Given the description of an element on the screen output the (x, y) to click on. 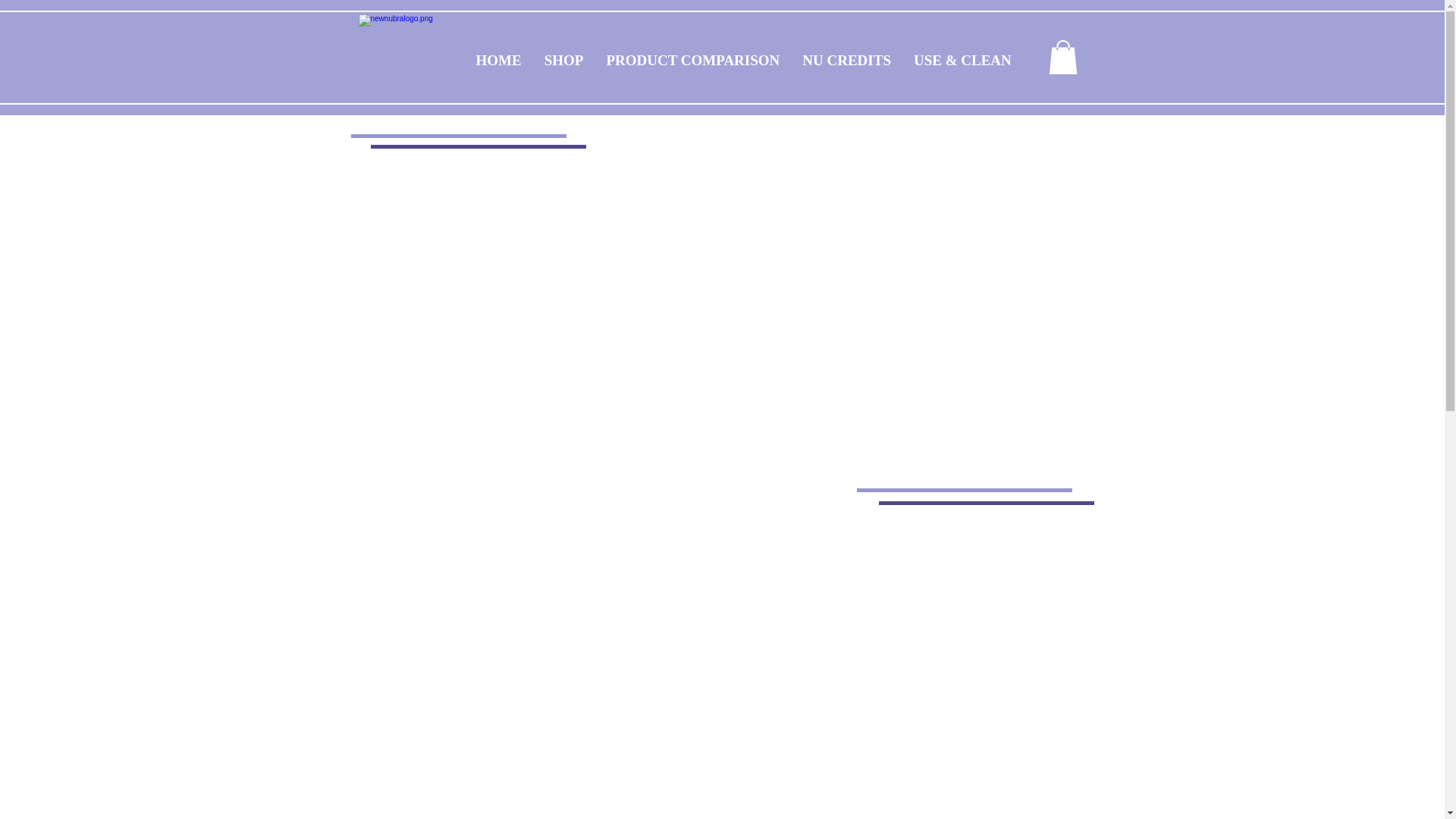
PRODUCT COMPARISON (692, 61)
HOME (498, 61)
NU CREDITS (846, 61)
ADVERTORIAL (1088, 61)
SHOP (563, 61)
